Given the description of an element on the screen output the (x, y) to click on. 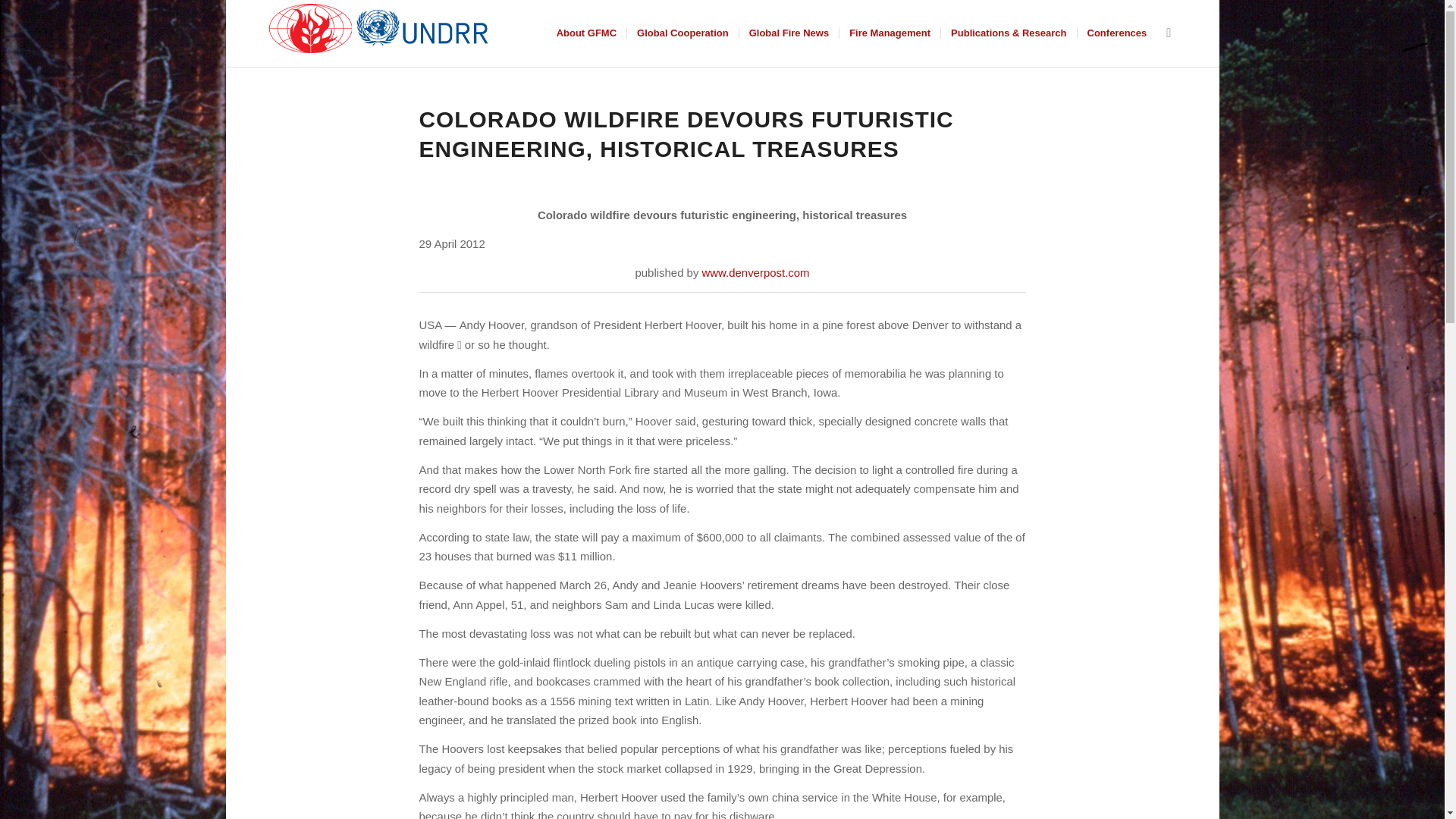
Global Cooperation (682, 33)
About GFMC (586, 33)
